Given the description of an element on the screen output the (x, y) to click on. 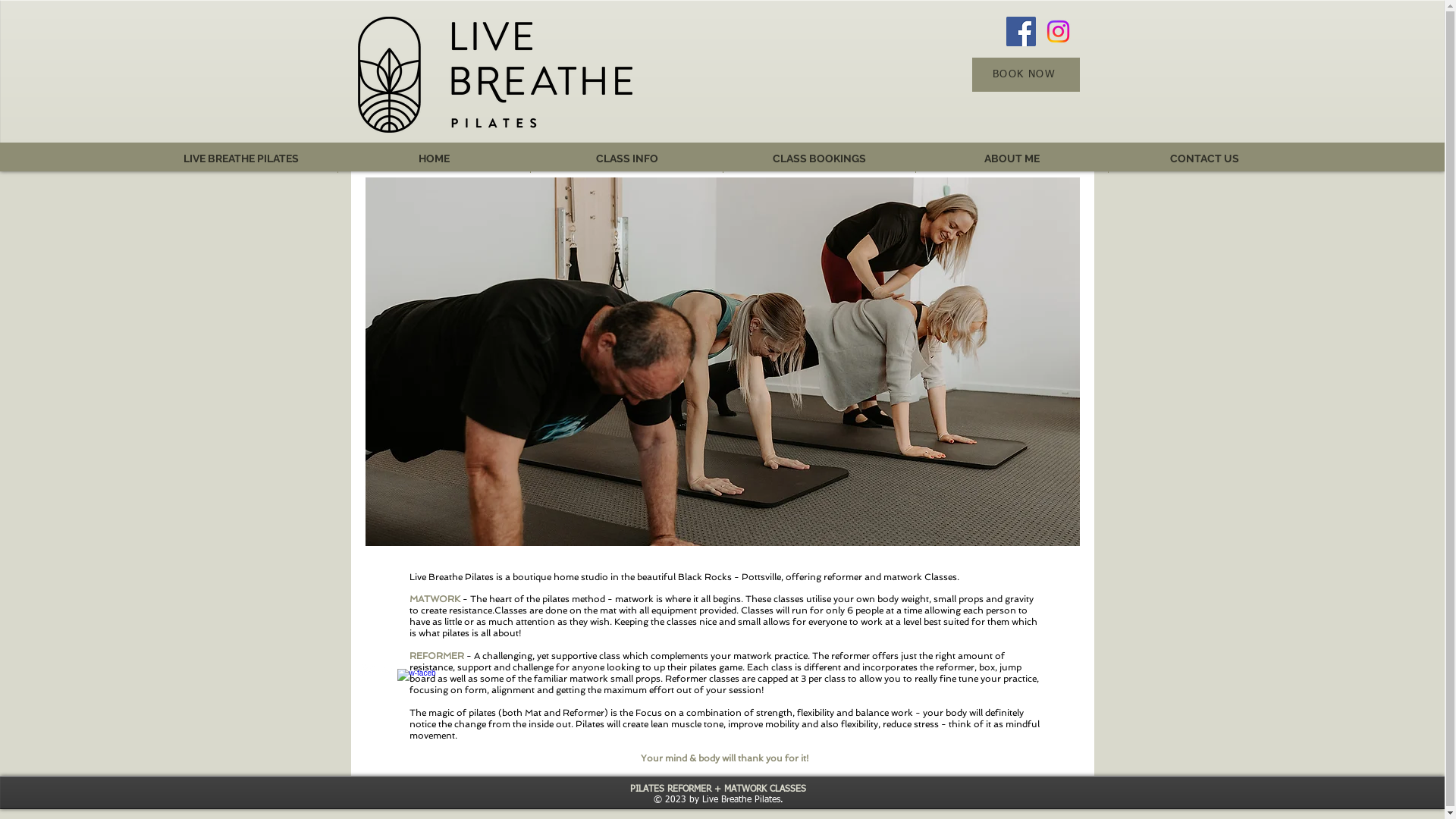
HOME Element type: text (434, 158)
CLASS BOOKINGS Element type: text (819, 158)
ABOUT ME Element type: text (1011, 158)
BOOK NOW Element type: text (1025, 74)
CLASS INFO Element type: text (626, 158)
CONTACT US Element type: text (1204, 158)
iveBreathePilates Element type: hover (494, 74)
